Given the description of an element on the screen output the (x, y) to click on. 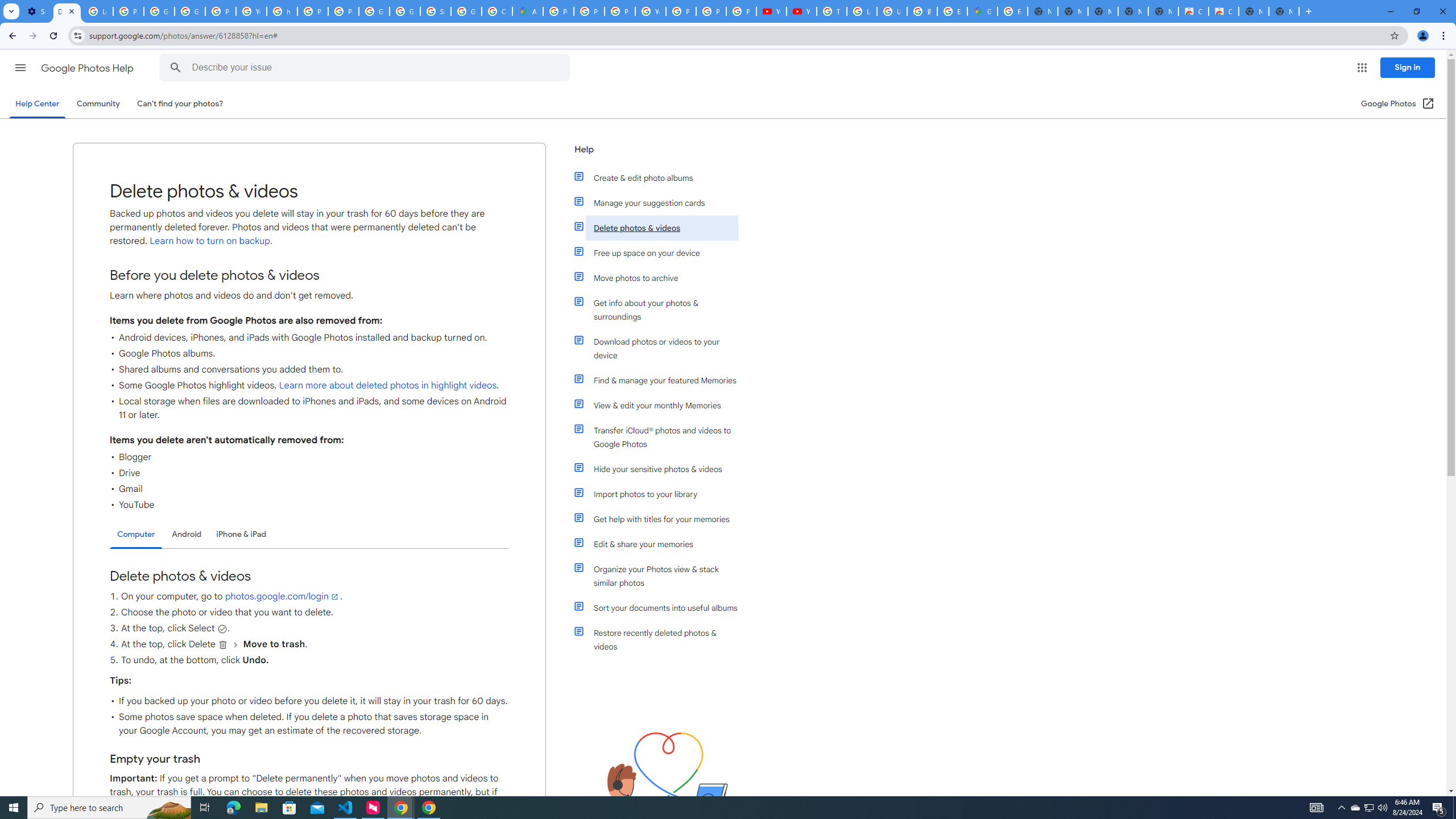
Search Help Center (176, 67)
Main menu (20, 67)
Describe your issue (366, 67)
Privacy Checkup (740, 11)
Privacy Help Center - Policies Help (619, 11)
YouTube (251, 11)
Privacy Checkup (710, 11)
Create & edit photo albums (661, 177)
Delete photos & videos (661, 227)
